Given the description of an element on the screen output the (x, y) to click on. 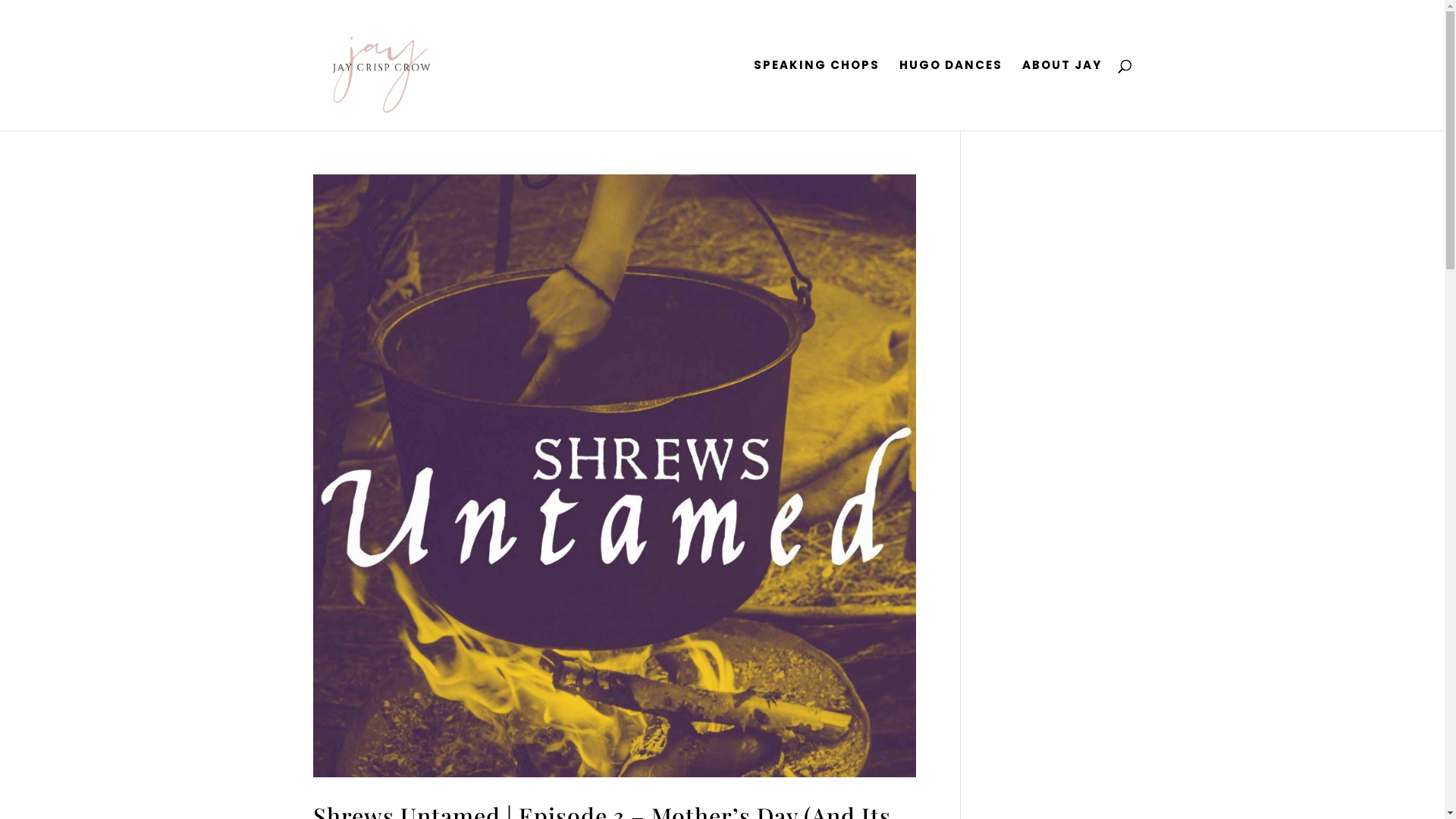
SPEAKING CHOPS Element type: text (816, 94)
ABOUT JAY Element type: text (1061, 94)
HUGO DANCES Element type: text (950, 94)
